Given the description of an element on the screen output the (x, y) to click on. 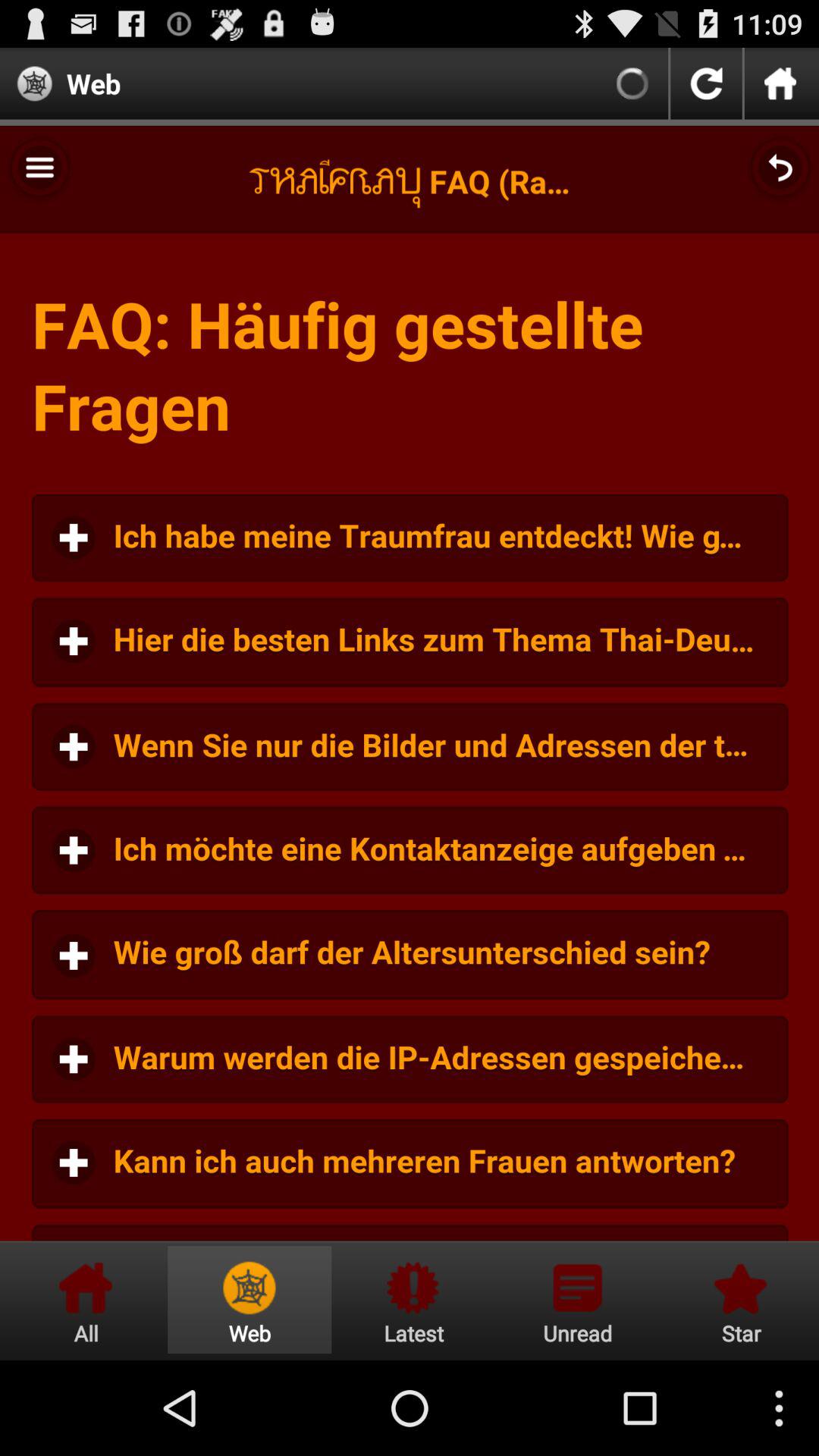
view favorites (739, 1299)
